Given the description of an element on the screen output the (x, y) to click on. 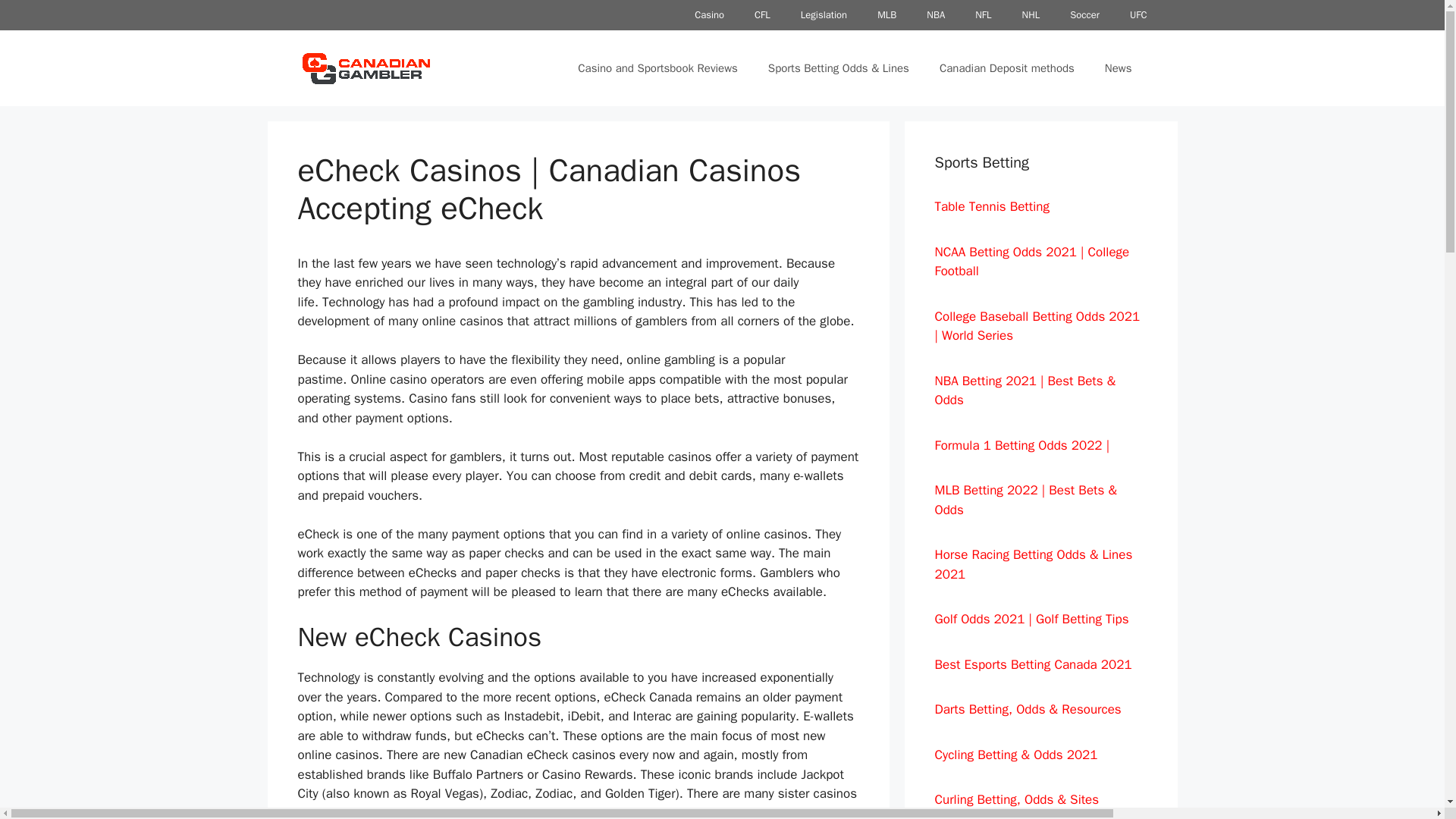
Canadian Deposit methods (1006, 67)
NHL (1031, 15)
CFL (762, 15)
UFC (1138, 15)
News (1118, 67)
Casino and Sportsbook Reviews (657, 67)
NBA (935, 15)
Casino (709, 15)
MLB (886, 15)
Canadian Gambler (365, 67)
